Given the description of an element on the screen output the (x, y) to click on. 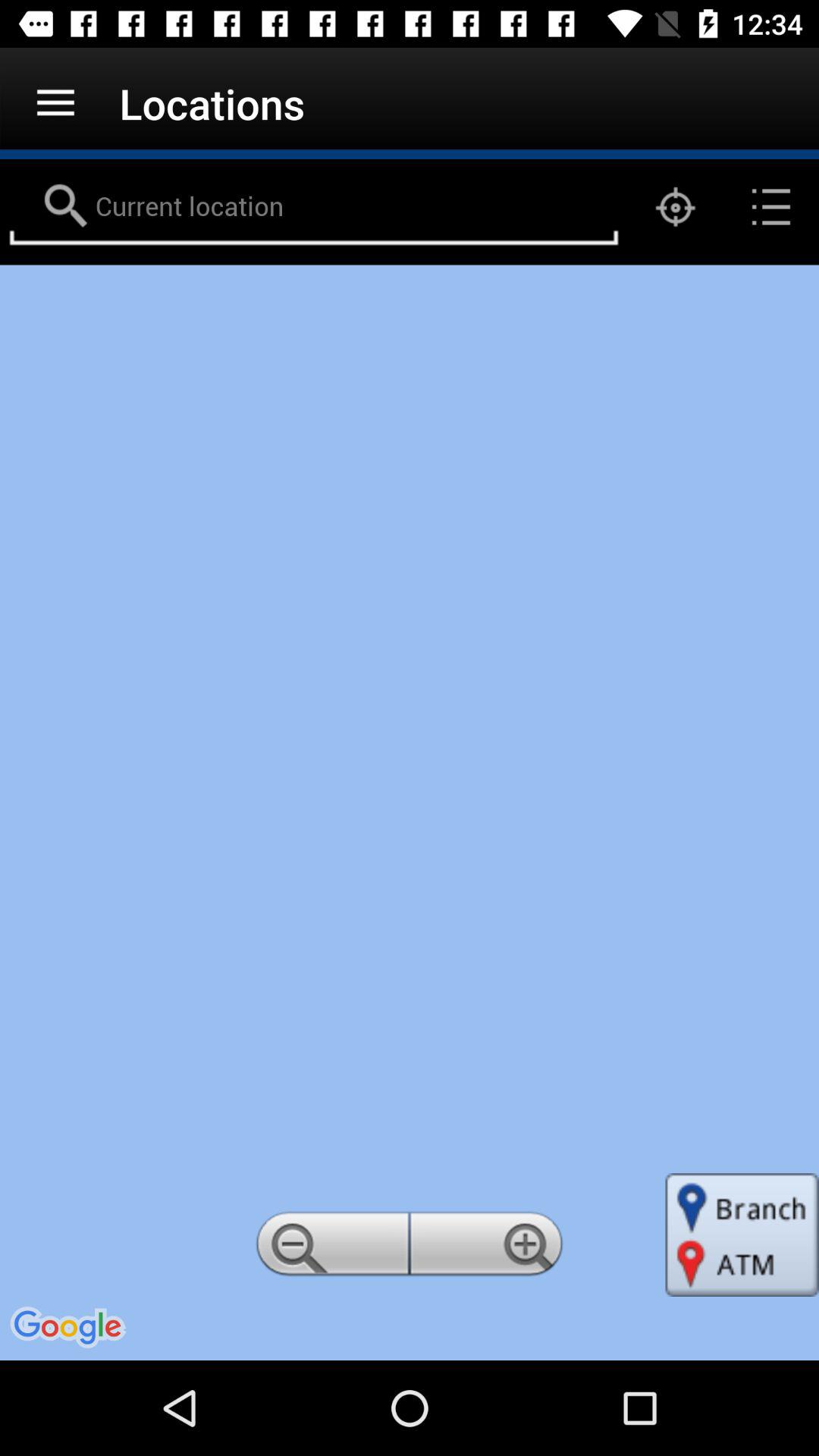
click icon to the left of locations app (55, 103)
